Given the description of an element on the screen output the (x, y) to click on. 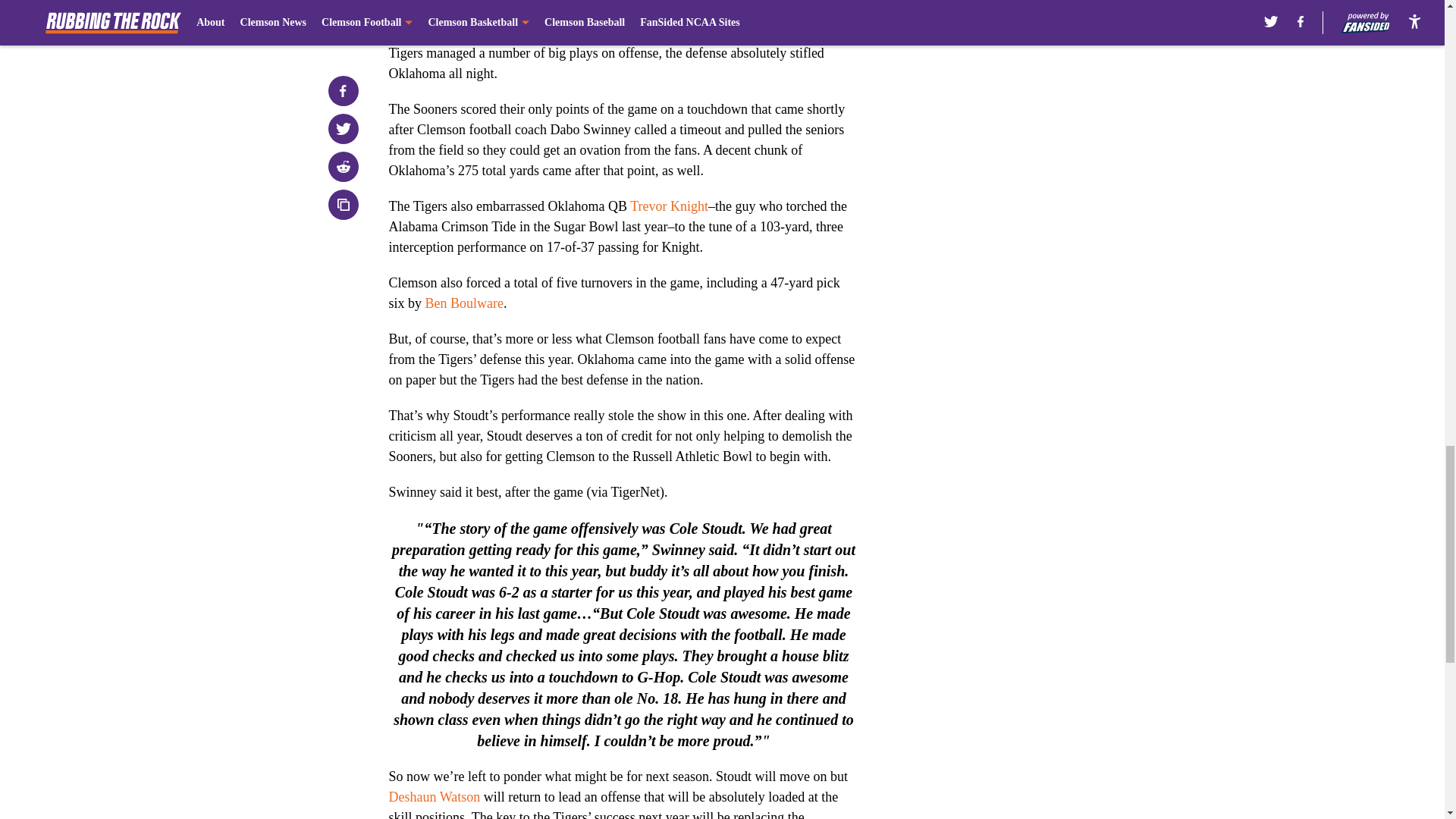
Trevor Knight (668, 206)
Ben Boulware (464, 303)
Deshaun Watson (434, 796)
